Given the description of an element on the screen output the (x, y) to click on. 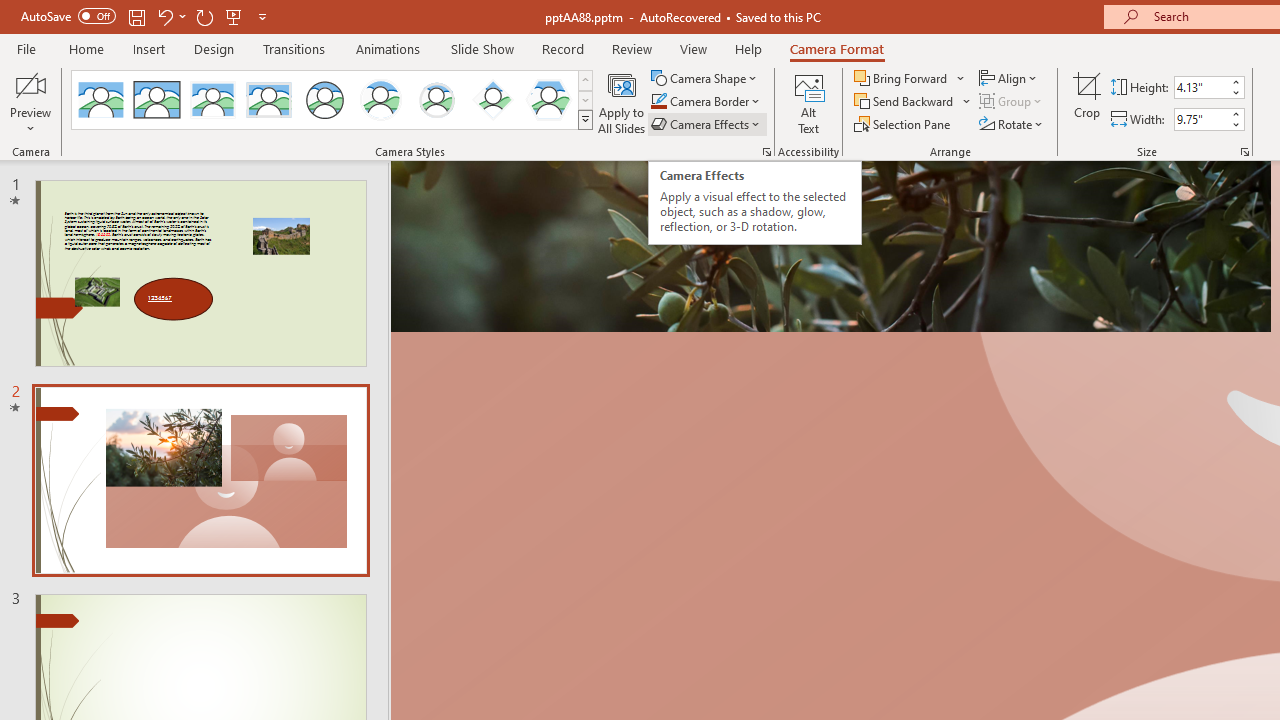
Crop (1087, 102)
More (1235, 113)
Center Shadow Diamond (492, 100)
Bring Forward (910, 78)
Camera Shape (705, 78)
Camera Border (706, 101)
Preview (30, 102)
Align (1009, 78)
Simple Frame Circle (324, 100)
